Given the description of an element on the screen output the (x, y) to click on. 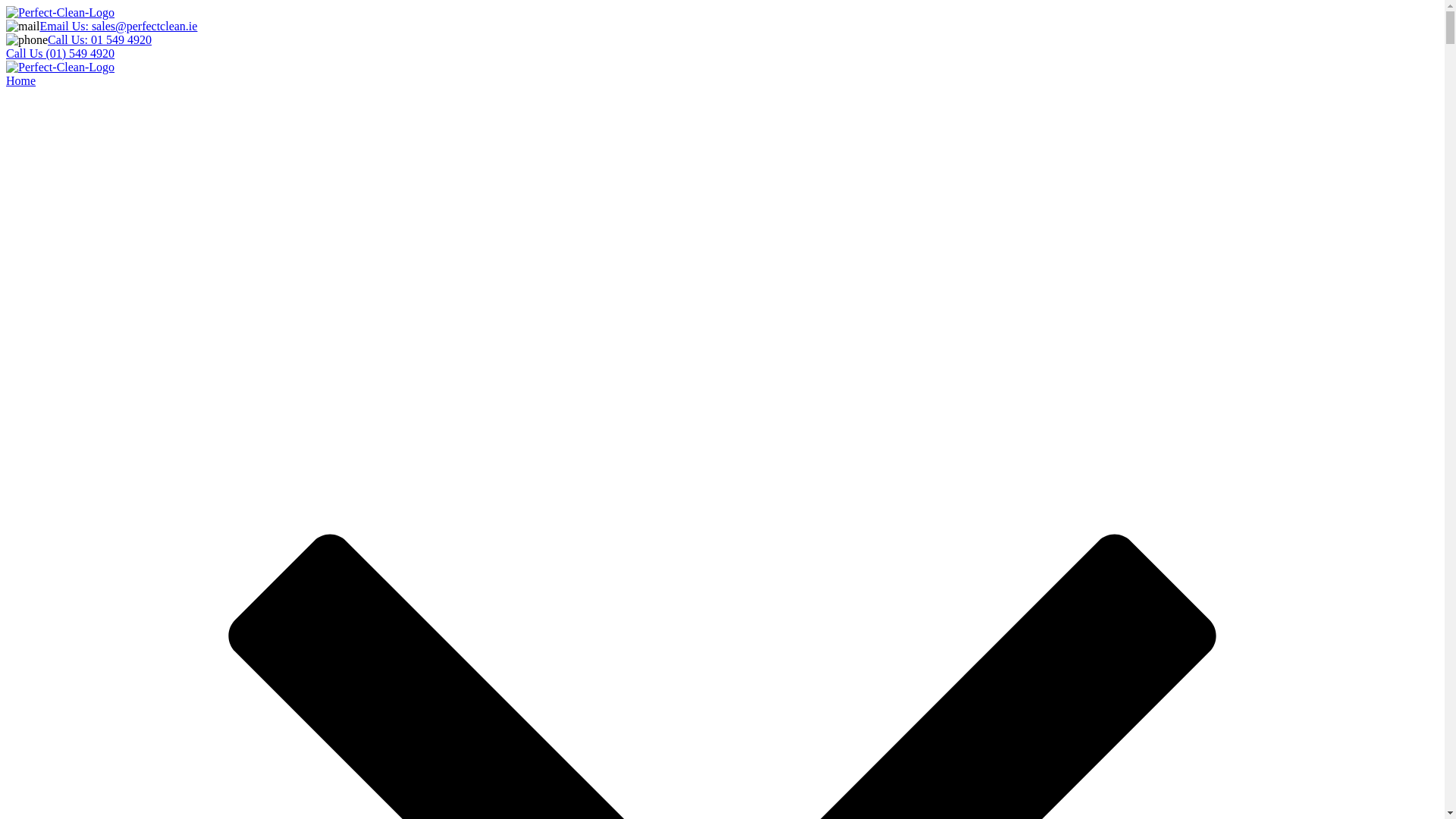
Home (19, 80)
Call Us: 01 549 4920 (99, 39)
